Given the description of an element on the screen output the (x, y) to click on. 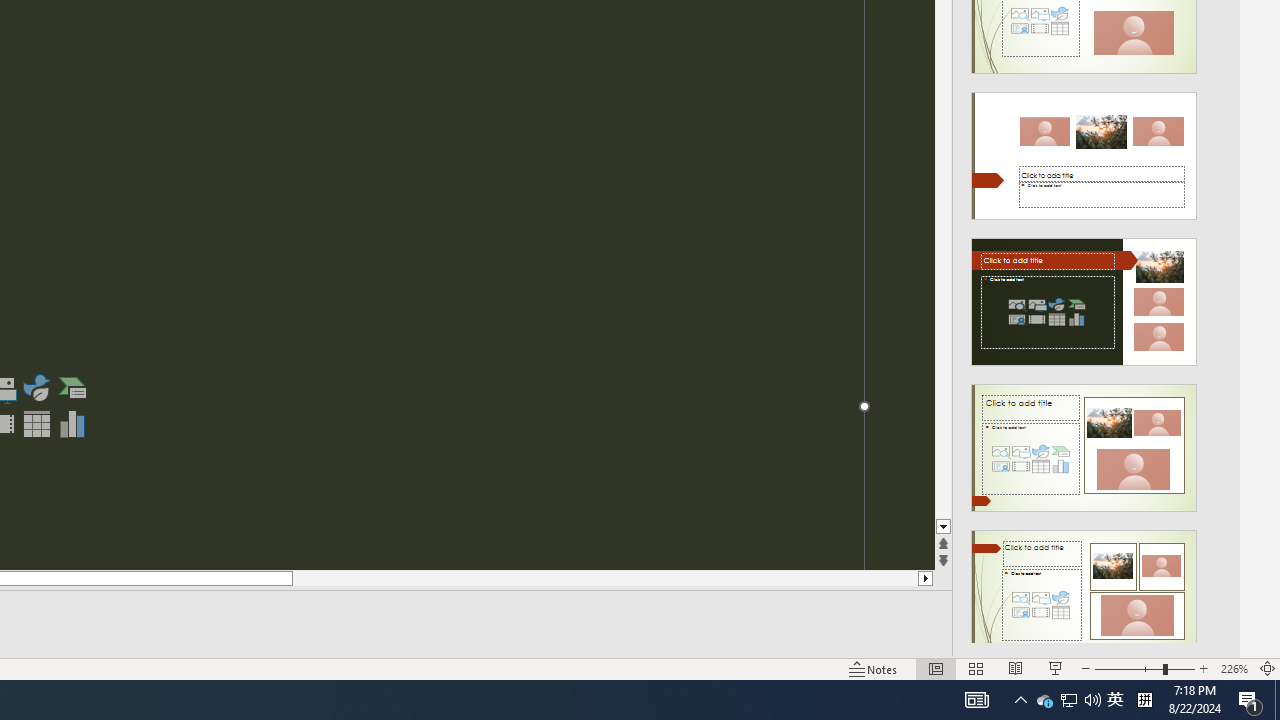
Insert Chart (73, 423)
Insert Table (36, 423)
Zoom 226% (1234, 668)
Design Idea (1083, 587)
Page down (943, 259)
Insert an Icon (36, 387)
